Given the description of an element on the screen output the (x, y) to click on. 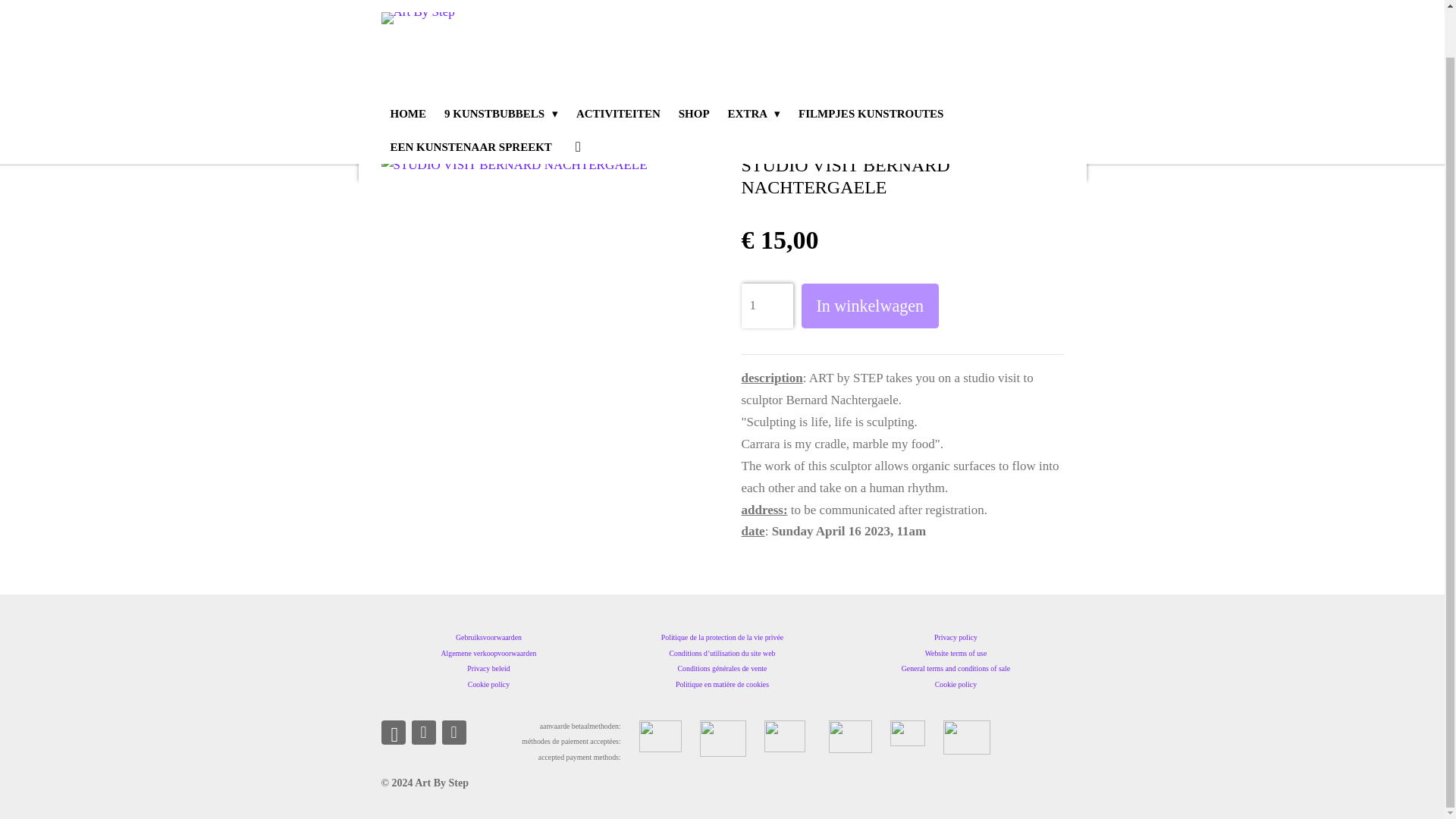
SHOP (694, 63)
EXTRA (754, 63)
Account (577, 96)
Privacy beleid (488, 668)
FILMPJES KUNSTROUTES (870, 63)
Cookie policy (488, 684)
Website terms of use (955, 653)
Privacy policy (955, 637)
ACTIVITEITEN (618, 63)
1 (767, 306)
